Given the description of an element on the screen output the (x, y) to click on. 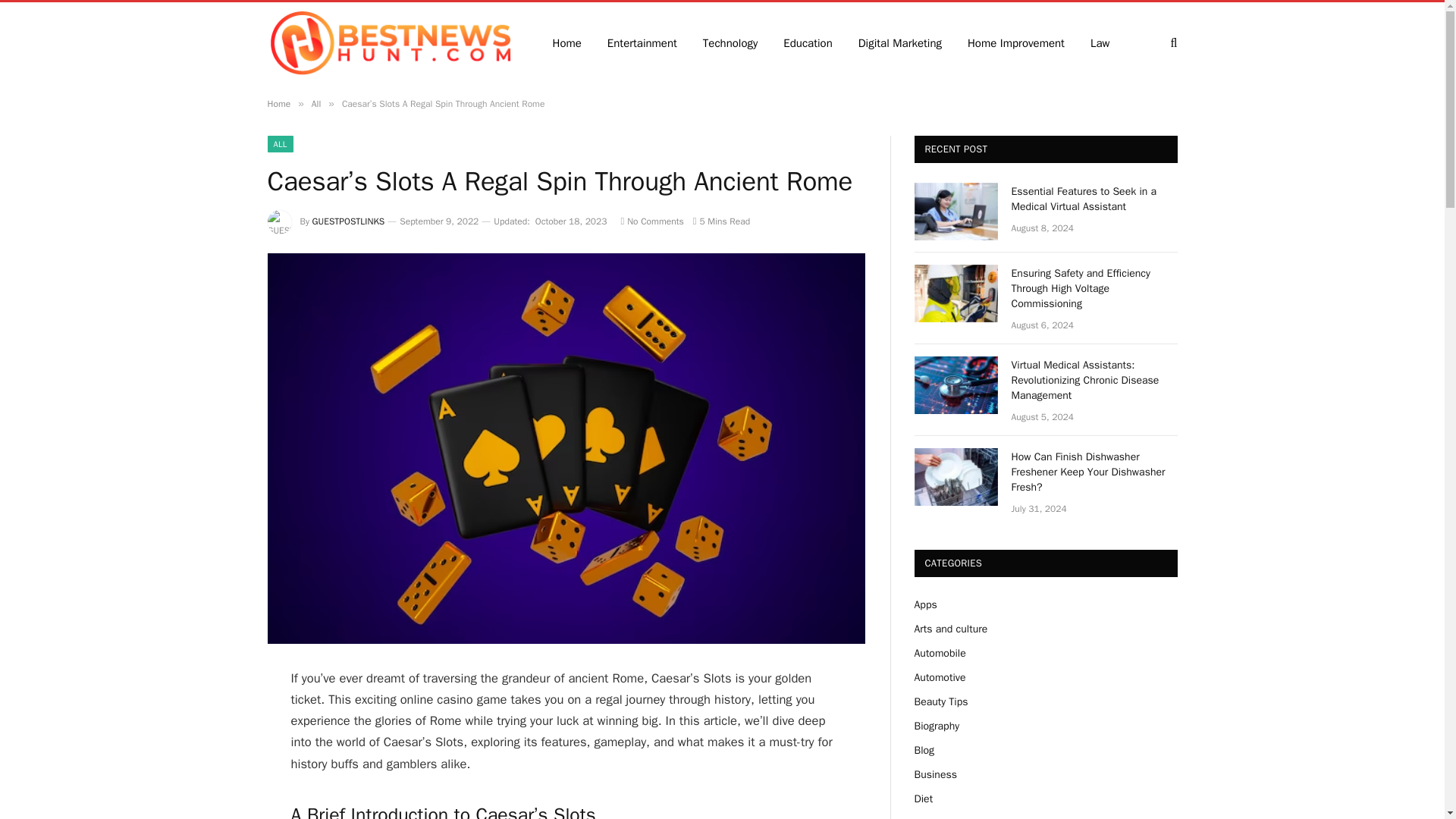
Education (807, 42)
Posts by GUESTPOSTLINKS (349, 221)
Entertainment (642, 42)
GUESTPOSTLINKS (349, 221)
ALL (279, 143)
Home Improvement (1016, 42)
No Comments (651, 221)
Digital Marketing (900, 42)
Technology (730, 42)
Home (277, 103)
